Given the description of an element on the screen output the (x, y) to click on. 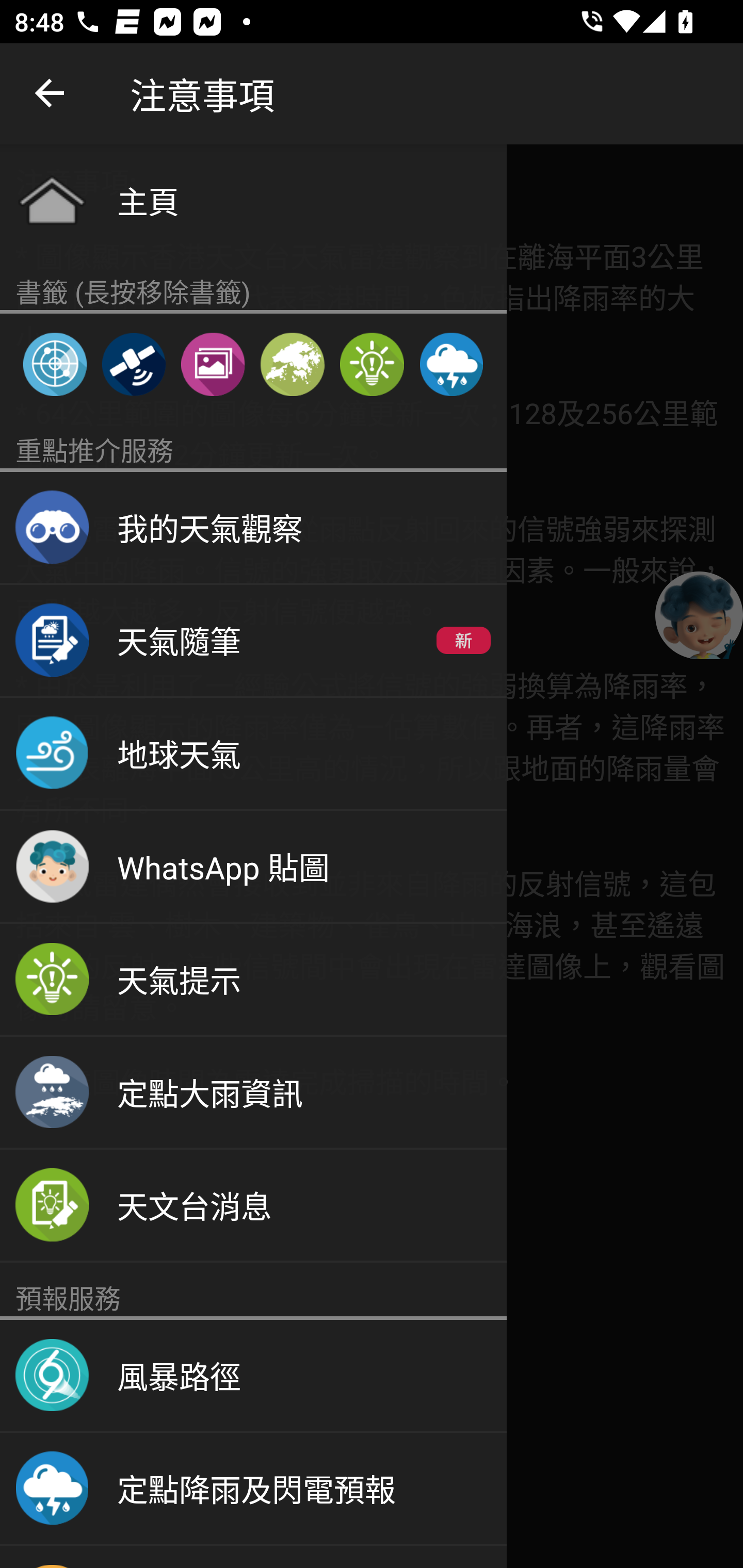
向上瀏覽 (50, 93)
主頁 (253, 199)
雷達圖像 (54, 364)
衛星圖像 (133, 364)
天氣照片 (212, 364)
分區天氣 (292, 364)
天氣提示 (371, 364)
定點降雨及閃電預報 (451, 364)
我的天氣觀察 (253, 527)
天氣隨筆 新功能 (253, 640)
地球天氣 (253, 753)
WhatsApp 貼圖 (253, 866)
天氣提示 (253, 979)
定點大雨資訊 (253, 1092)
天文台消息 (253, 1205)
風暴路徑 (253, 1375)
定點降雨及閃電預報 (253, 1488)
